Given the description of an element on the screen output the (x, y) to click on. 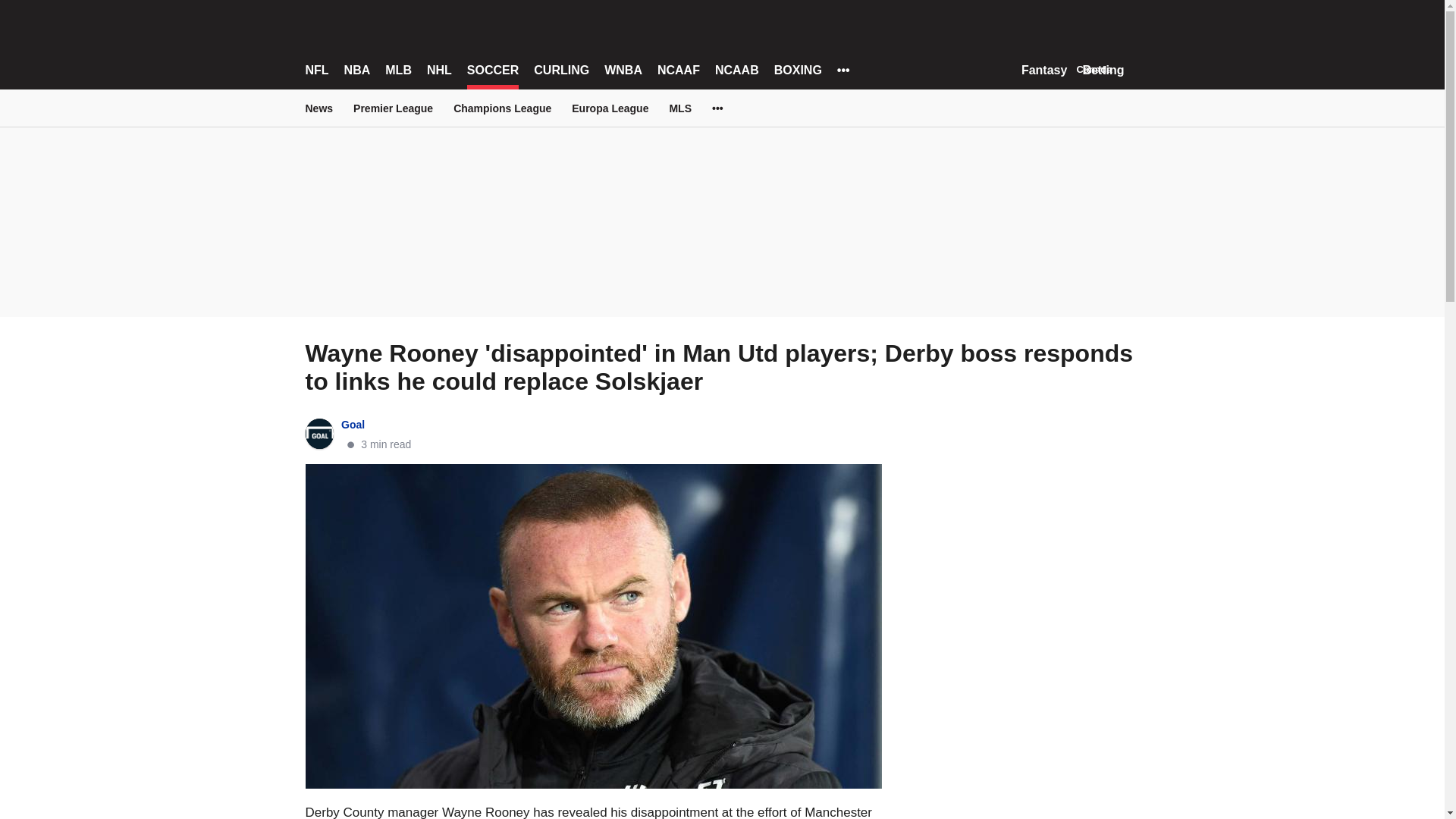
WNBA (623, 70)
NCAAB (736, 70)
NCAAF (679, 70)
BOXING (798, 70)
CURLING (561, 70)
SOCCER (492, 70)
